Given the description of an element on the screen output the (x, y) to click on. 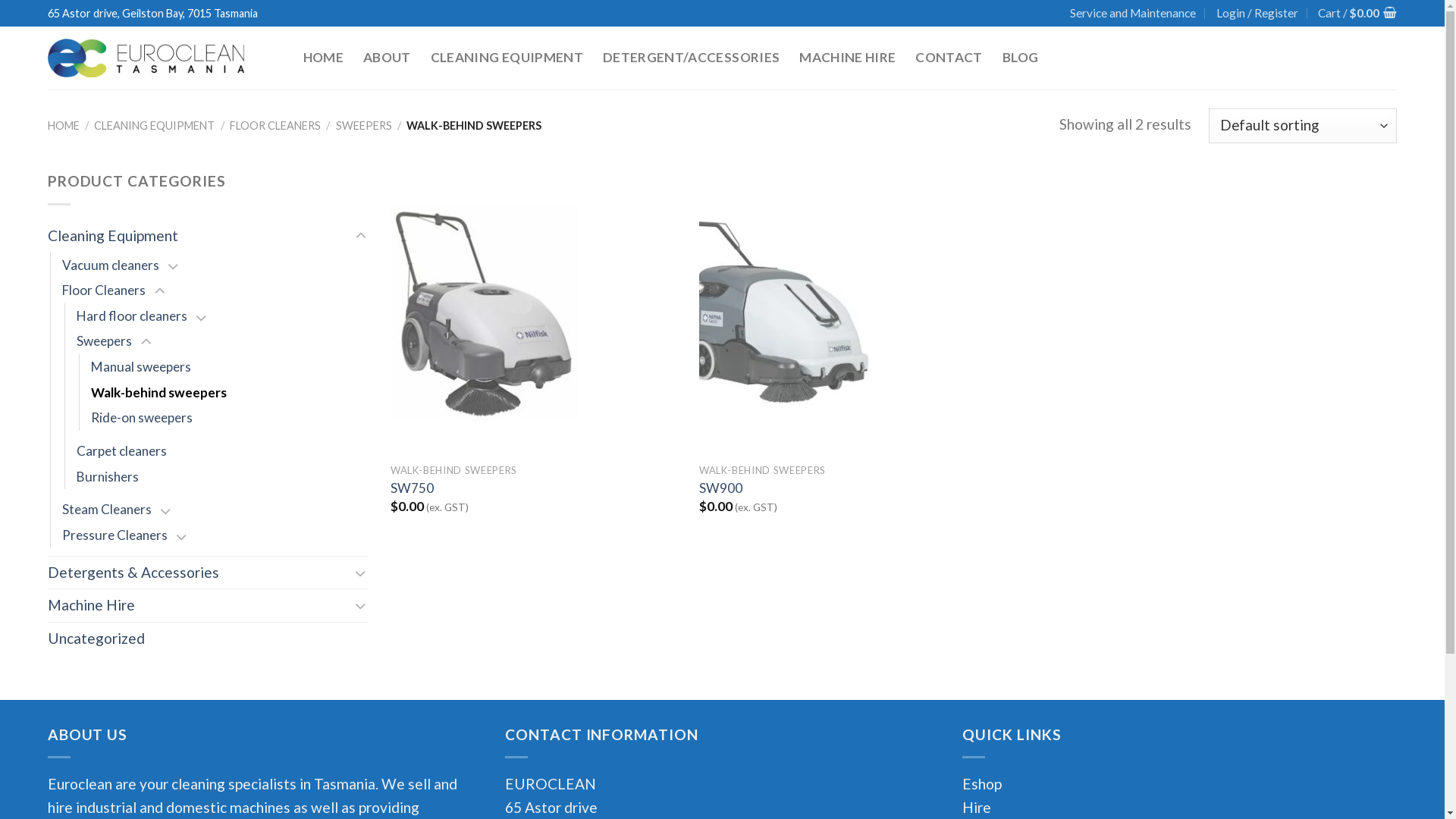
Service and Maintenance Element type: text (1132, 13)
Detergents & Accessories Element type: text (198, 572)
FLOOR CLEANERS Element type: text (274, 125)
Floor Cleaners Element type: text (103, 290)
Manual sweepers Element type: text (141, 366)
Hard floor cleaners Element type: text (131, 316)
EuroClean - Commercial Cleaning machines in Tasmania Element type: hover (163, 57)
Cart / $0.00 Element type: text (1356, 13)
Eshop Element type: text (981, 783)
Pressure Cleaners Element type: text (114, 535)
CLEANING EQUIPMENT Element type: text (154, 125)
Machine Hire Element type: text (198, 605)
Skip to content Element type: text (0, 0)
Cleaning Equipment Element type: text (198, 235)
MACHINE HIRE Element type: text (847, 57)
Burnishers Element type: text (107, 476)
Hire  Element type: text (978, 806)
BLOG Element type: text (1020, 57)
DETERGENT/ACCESSORIES Element type: text (690, 57)
SW900 Element type: text (720, 488)
Vacuum cleaners Element type: text (110, 265)
Walk-behind sweepers Element type: text (158, 392)
Login / Register Element type: text (1257, 13)
Uncategorized Element type: text (207, 638)
SW750 Element type: text (411, 488)
CLEANING EQUIPMENT Element type: text (506, 57)
SWEEPERS Element type: text (363, 125)
Ride-on sweepers Element type: text (141, 417)
Carpet cleaners Element type: text (121, 451)
Steam Cleaners Element type: text (106, 509)
HOME Element type: text (63, 125)
Sweepers Element type: text (103, 341)
CONTACT Element type: text (948, 57)
HOME Element type: text (323, 57)
ABOUT Element type: text (387, 57)
